Given the description of an element on the screen output the (x, y) to click on. 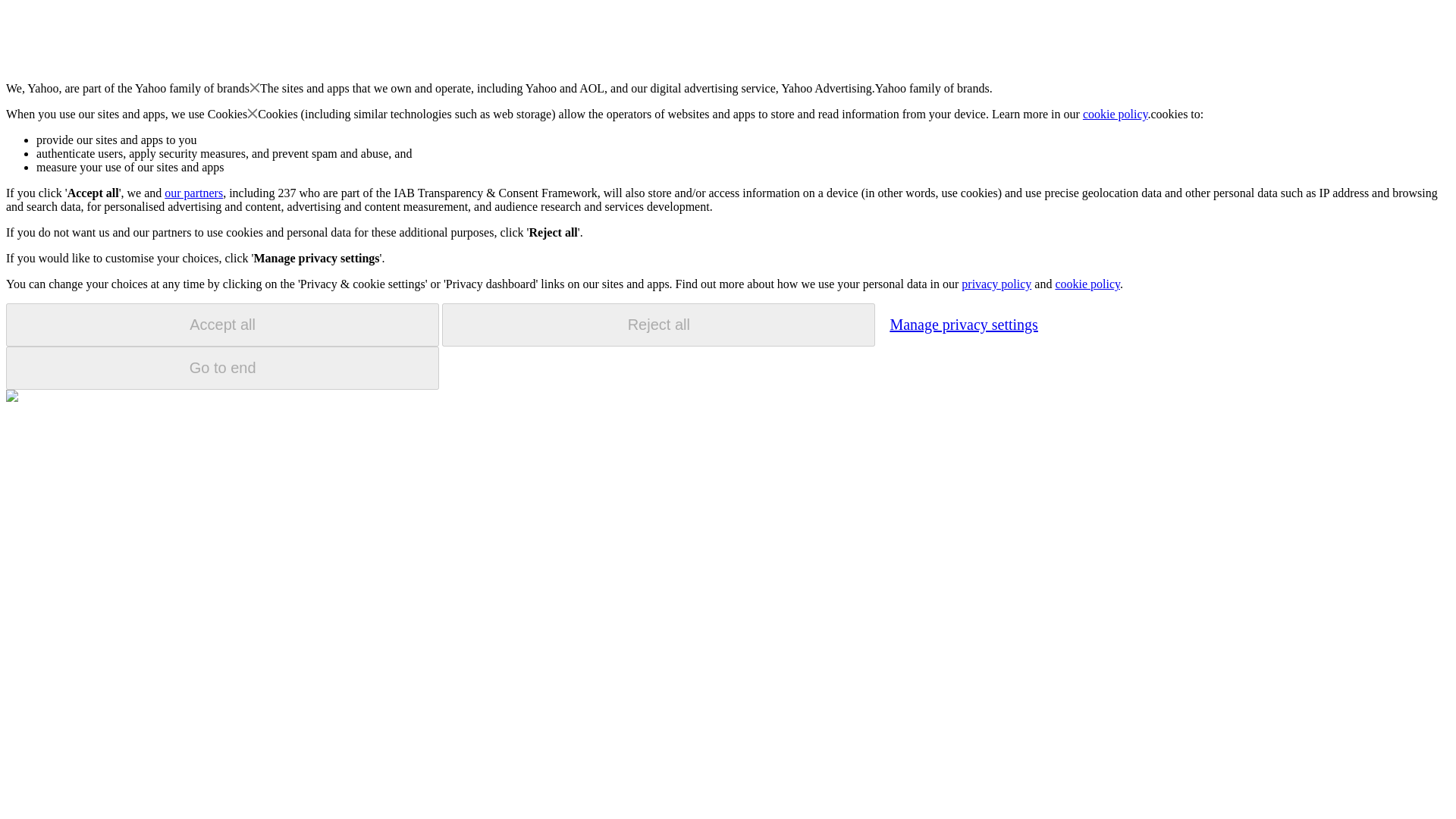
cookie policy (1086, 283)
privacy policy (995, 283)
Reject all (658, 324)
Accept all (222, 324)
Go to end (222, 367)
cookie policy (1115, 113)
Manage privacy settings (963, 323)
our partners (193, 192)
